Given the description of an element on the screen output the (x, y) to click on. 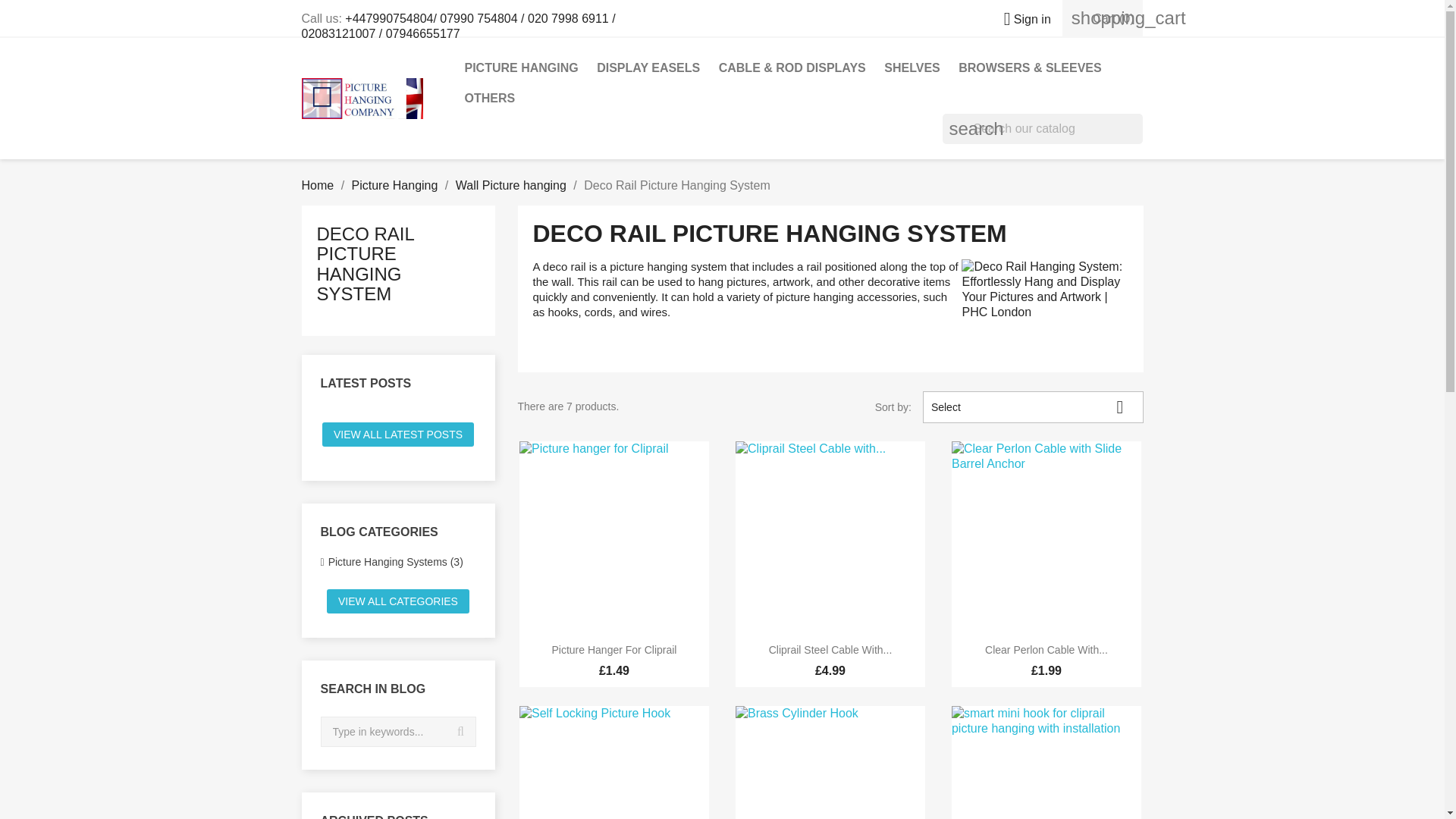
PICTURE HANGING (521, 68)
Log in to your customer account (1020, 19)
DISPLAY EASELS (648, 68)
